Given the description of an element on the screen output the (x, y) to click on. 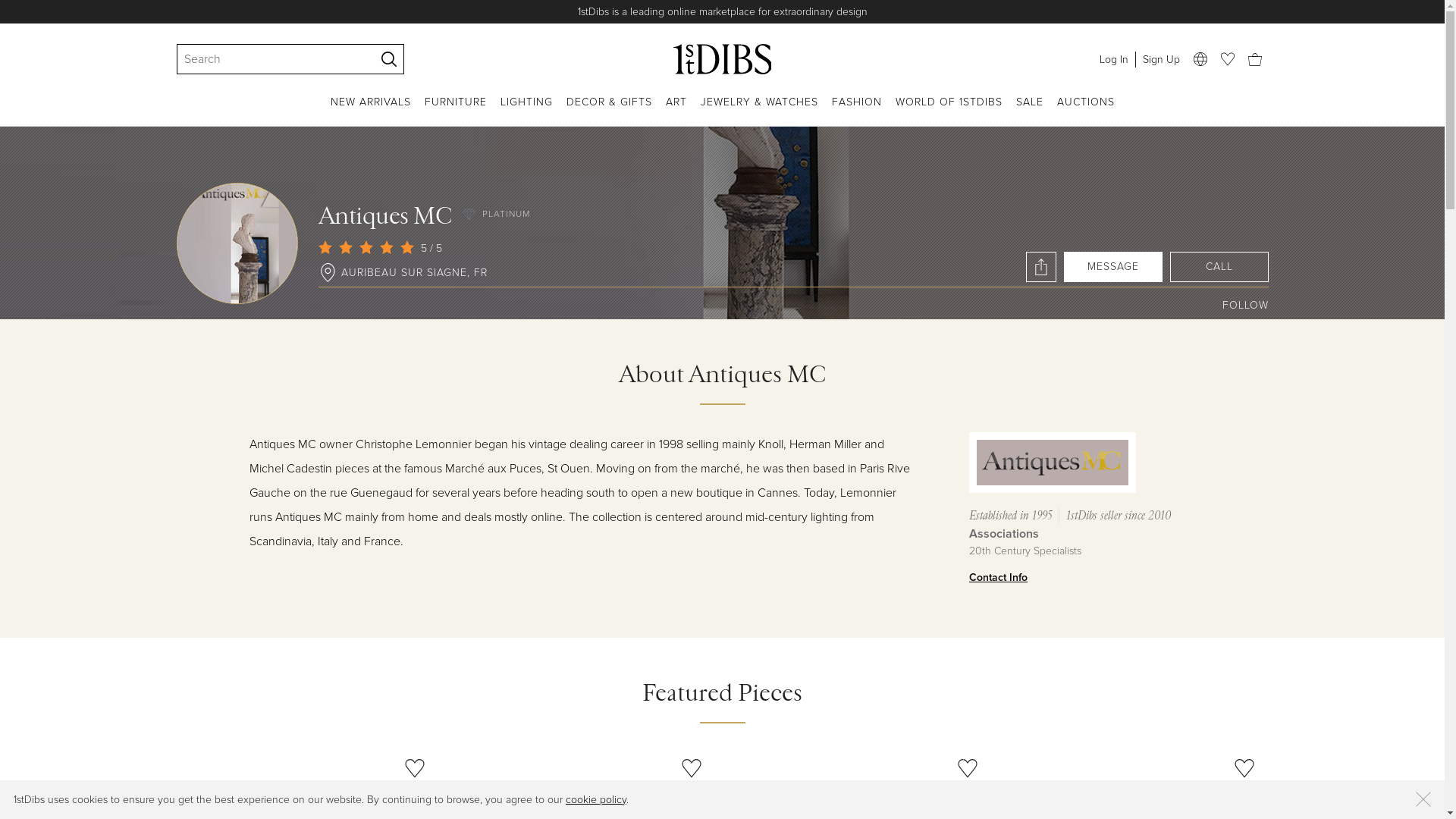
Log In Element type: text (1113, 59)
SALE Element type: text (1029, 109)
Contact Info Element type: text (1082, 577)
Shop Now Element type: text (871, 11)
FURNITURE Element type: text (455, 109)
AUCTIONS Element type: text (1085, 109)
Sign Up Element type: text (1160, 59)
SKIP TO MAIN CONTENT Element type: text (6, 6)
Search Element type: hover (268, 58)
JEWELRY & WATCHES Element type: text (759, 109)
FASHION Element type: text (856, 109)
ART Element type: text (676, 109)
LIGHTING Element type: text (526, 109)
DECOR & GIFTS Element type: text (608, 109)
cookie policy Element type: text (595, 799)
NEW ARRIVALS Element type: text (370, 109)
WORLD OF 1STDIBS Element type: text (947, 109)
CALL Element type: text (1218, 266)
